Given the description of an element on the screen output the (x, y) to click on. 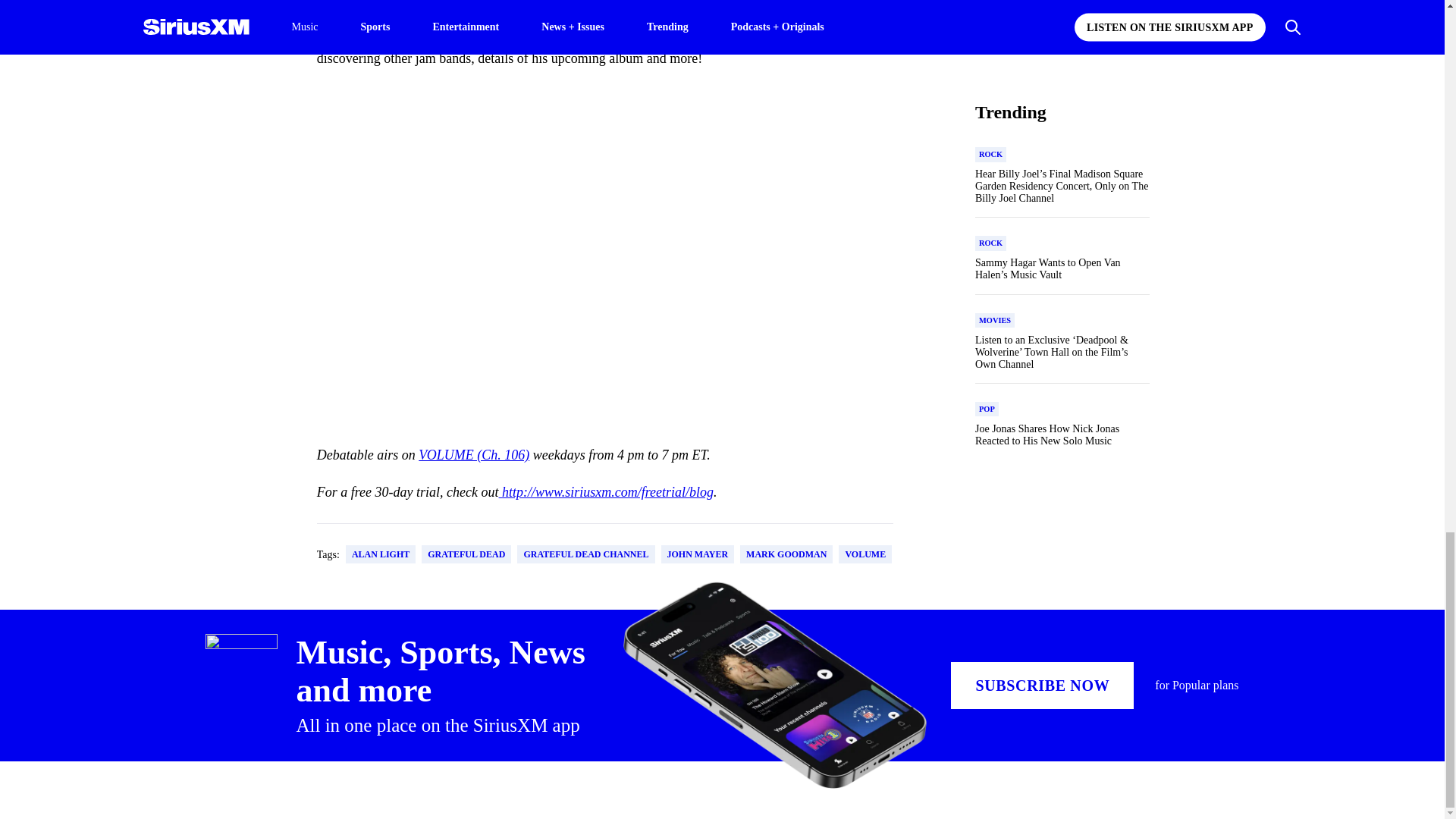
MARK GOODMAN (785, 554)
JOHN MAYER (698, 554)
VOLUME (864, 554)
ALAN LIGHT (380, 554)
GRATEFUL DEAD CHANNEL (584, 554)
GRATEFUL DEAD (466, 554)
